Given the description of an element on the screen output the (x, y) to click on. 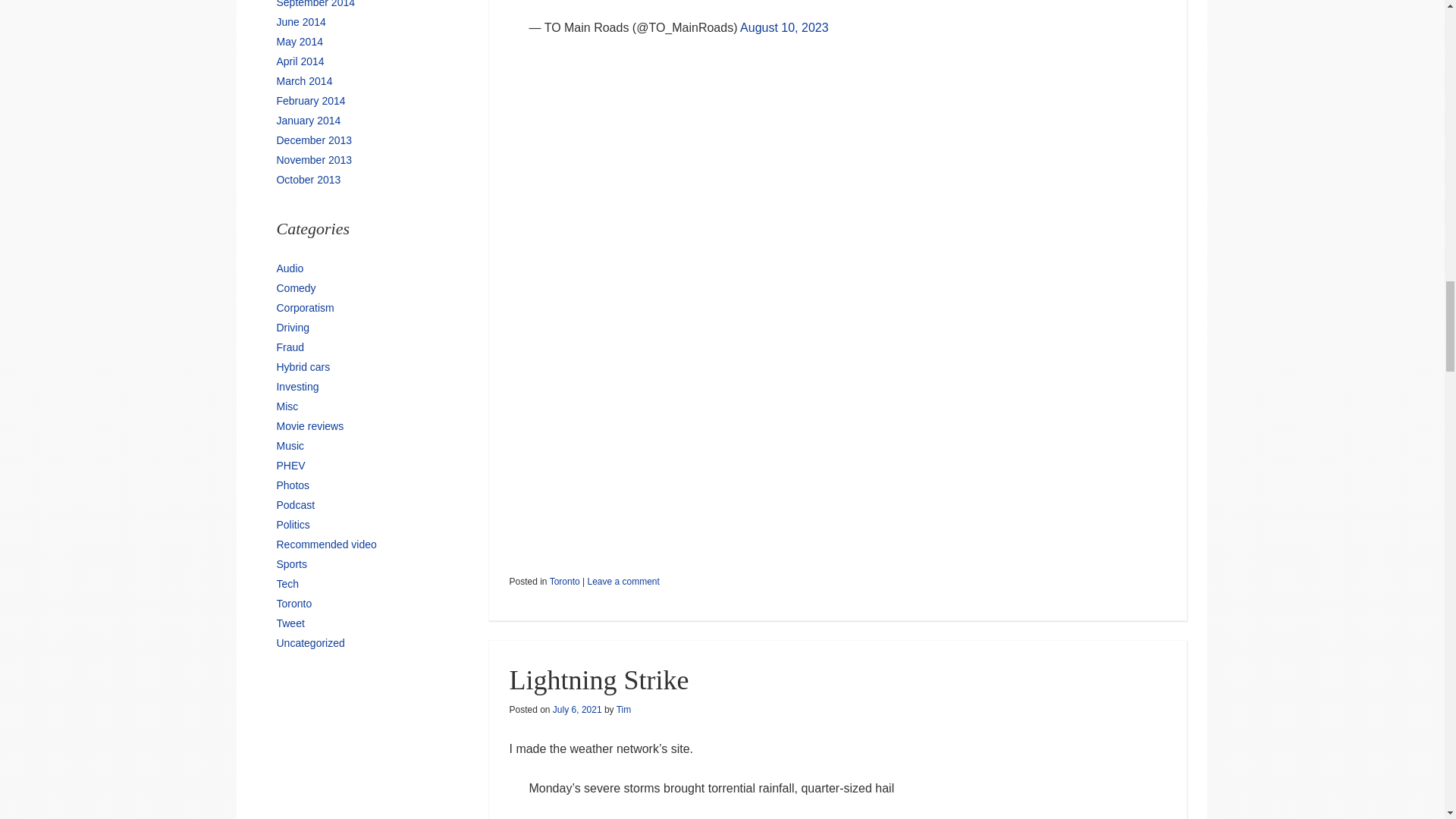
Toronto (564, 581)
Leave a comment (622, 581)
Tim (623, 709)
Lightning Strike (598, 680)
6:48 pm (577, 709)
View all posts by Tim (623, 709)
July 6, 2021 (577, 709)
August 10, 2023 (783, 27)
